Given the description of an element on the screen output the (x, y) to click on. 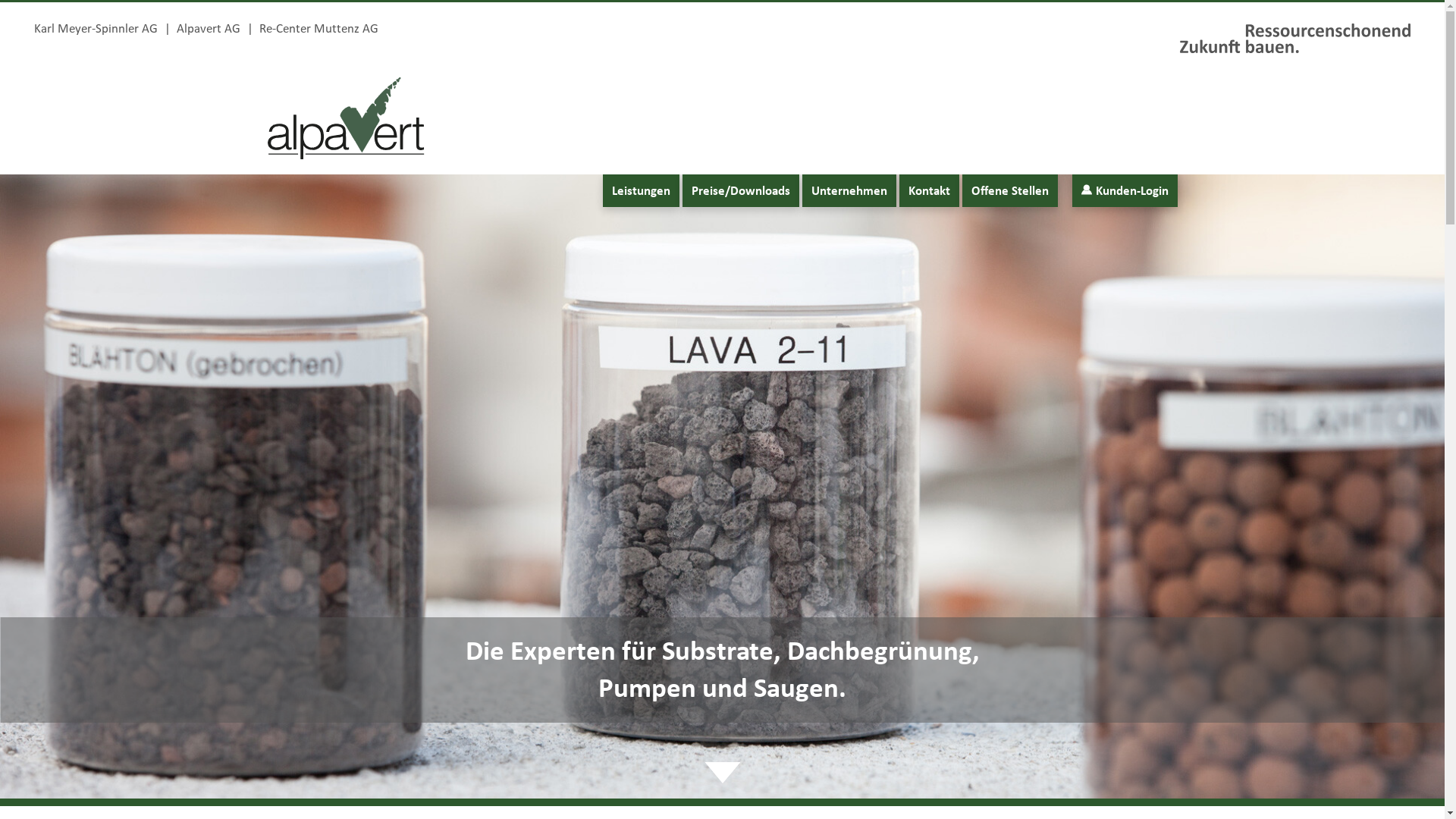
Alpavert AG Element type: text (208, 27)
Offene Stellen Element type: text (1009, 190)
Unternehmen Element type: text (849, 190)
Kunden-Login Element type: text (1124, 190)
Preise/Downloads Element type: text (740, 190)
Karl Meyer-Spinnler AG Element type: text (95, 27)
Kontakt Element type: text (929, 190)
Leistungen Element type: text (640, 190)
Re-Center Muttenz AG Element type: text (318, 27)
